Given the description of an element on the screen output the (x, y) to click on. 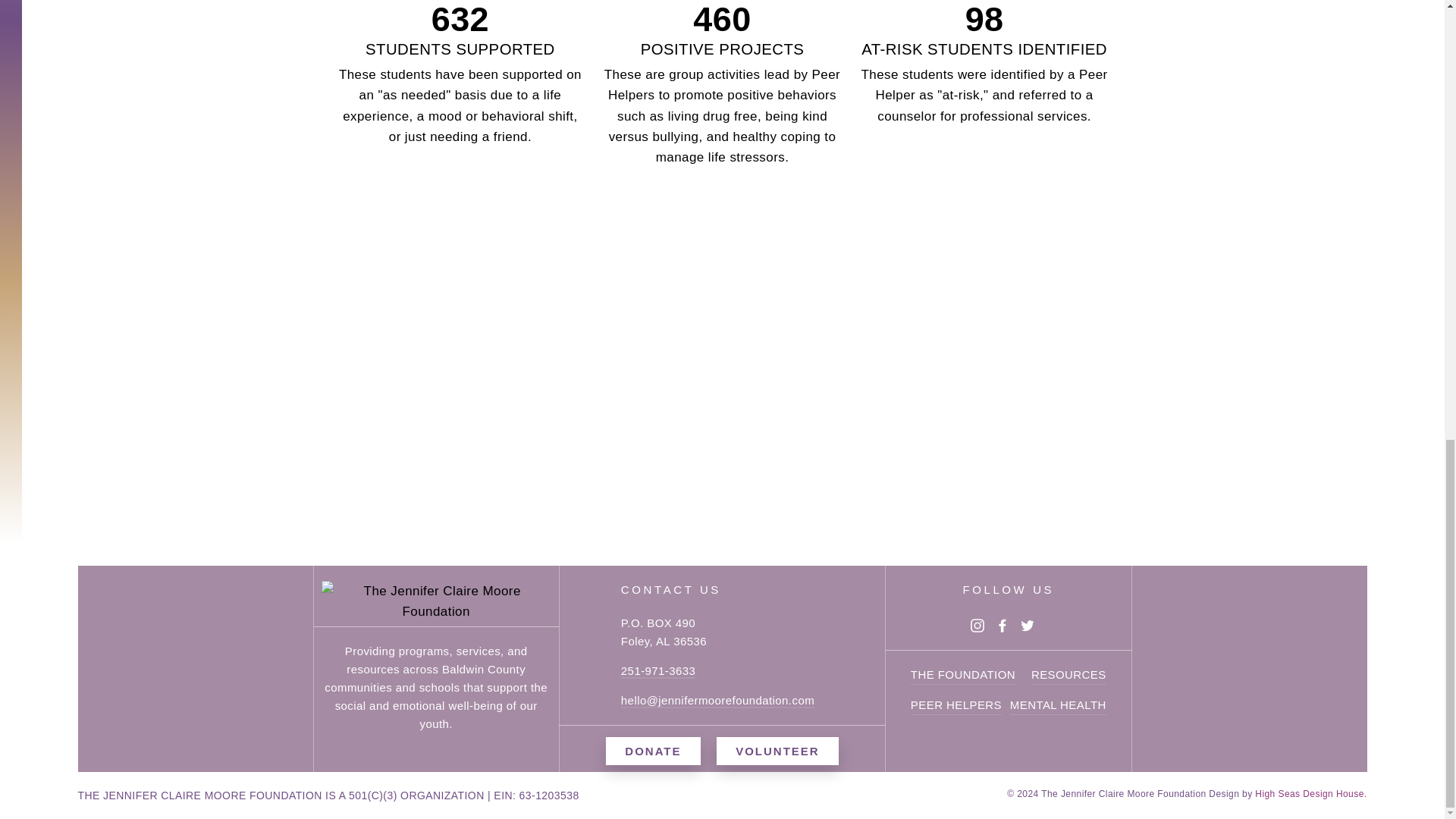
High Seas Design House Link (1311, 793)
JCM Foundation Phone Number (658, 671)
